Given the description of an element on the screen output the (x, y) to click on. 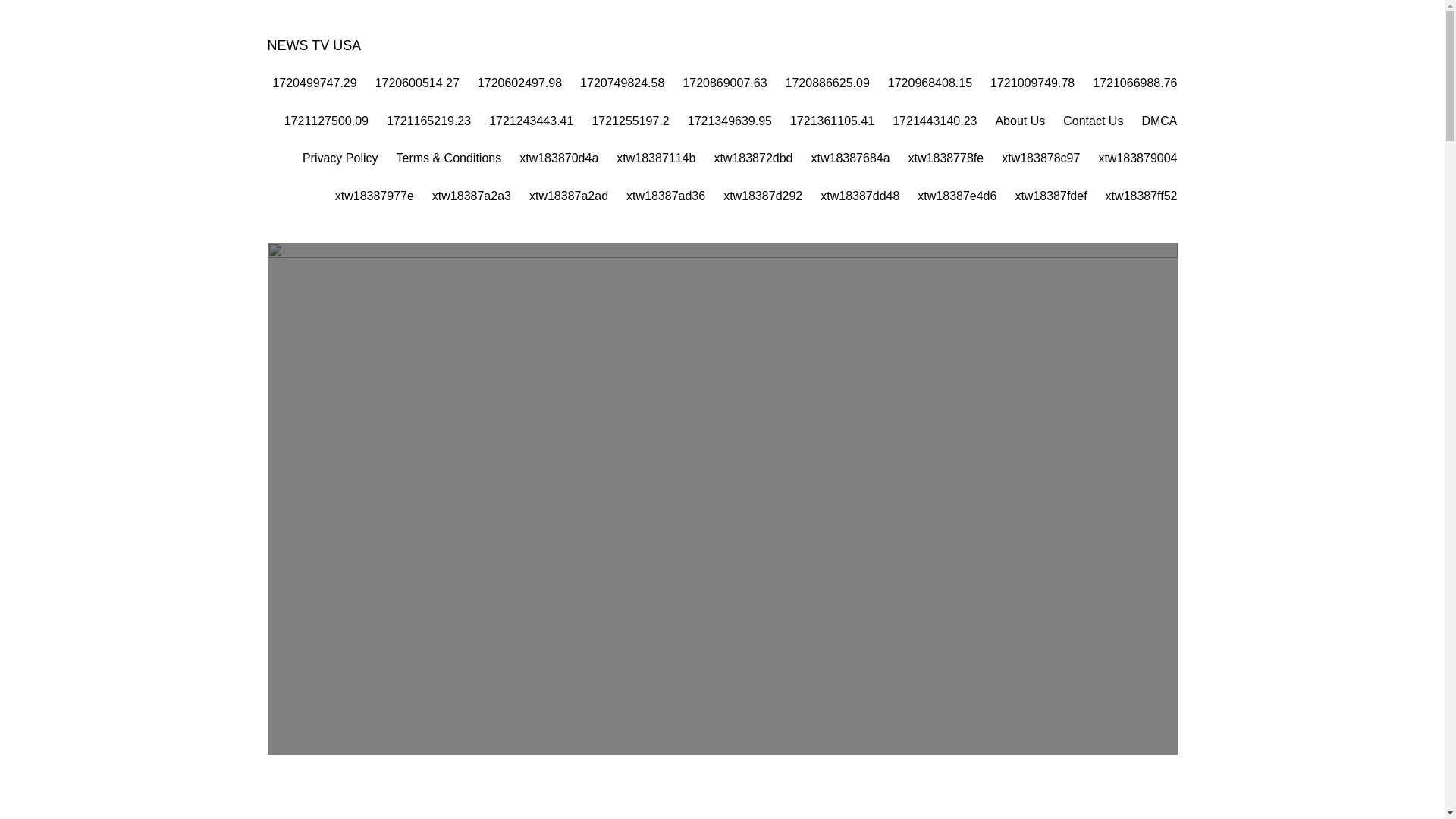
xtw18387dd48 (860, 196)
xtw183872dbd (752, 158)
xtw18387684a (849, 158)
Contact Us (1092, 121)
1721127500.09 (325, 121)
xtw1838778fe (946, 158)
Privacy Policy (340, 158)
xtw18387a2ad (568, 196)
1720886625.09 (827, 83)
1720749824.58 (621, 83)
1721443140.23 (934, 121)
xtw183879004 (1136, 158)
1721349639.95 (729, 121)
xtw18387977e (373, 196)
1721243443.41 (531, 121)
